Given the description of an element on the screen output the (x, y) to click on. 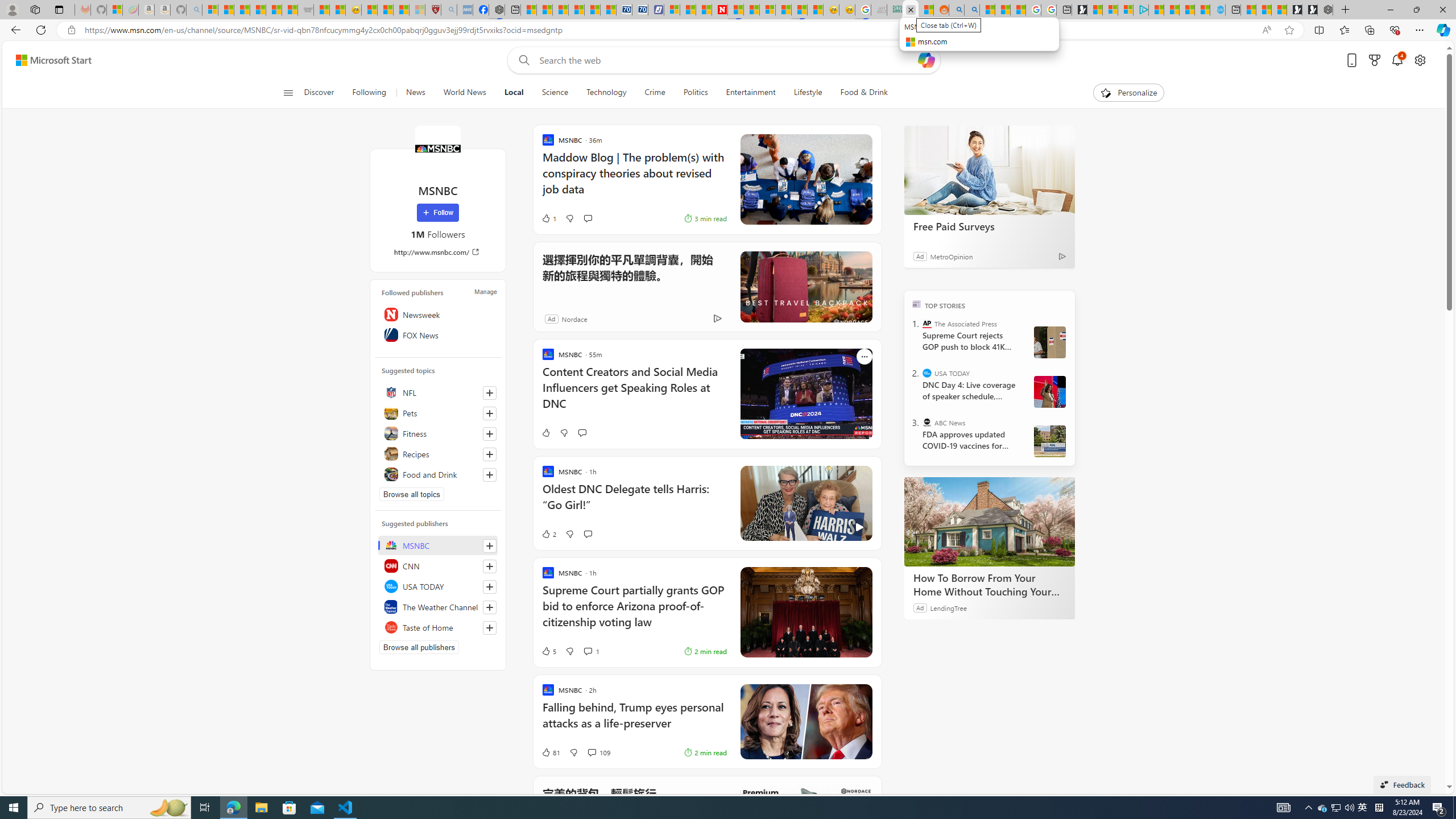
The Associated Press (927, 323)
81 Like (549, 752)
14 Common Myths Debunked By Scientific Facts (751, 9)
Free Paid Surveys (988, 226)
View comments 109 Comment (598, 752)
Follow this source (489, 627)
View comments 1 Comment (591, 650)
USA TODAY (437, 586)
